Given the description of an element on the screen output the (x, y) to click on. 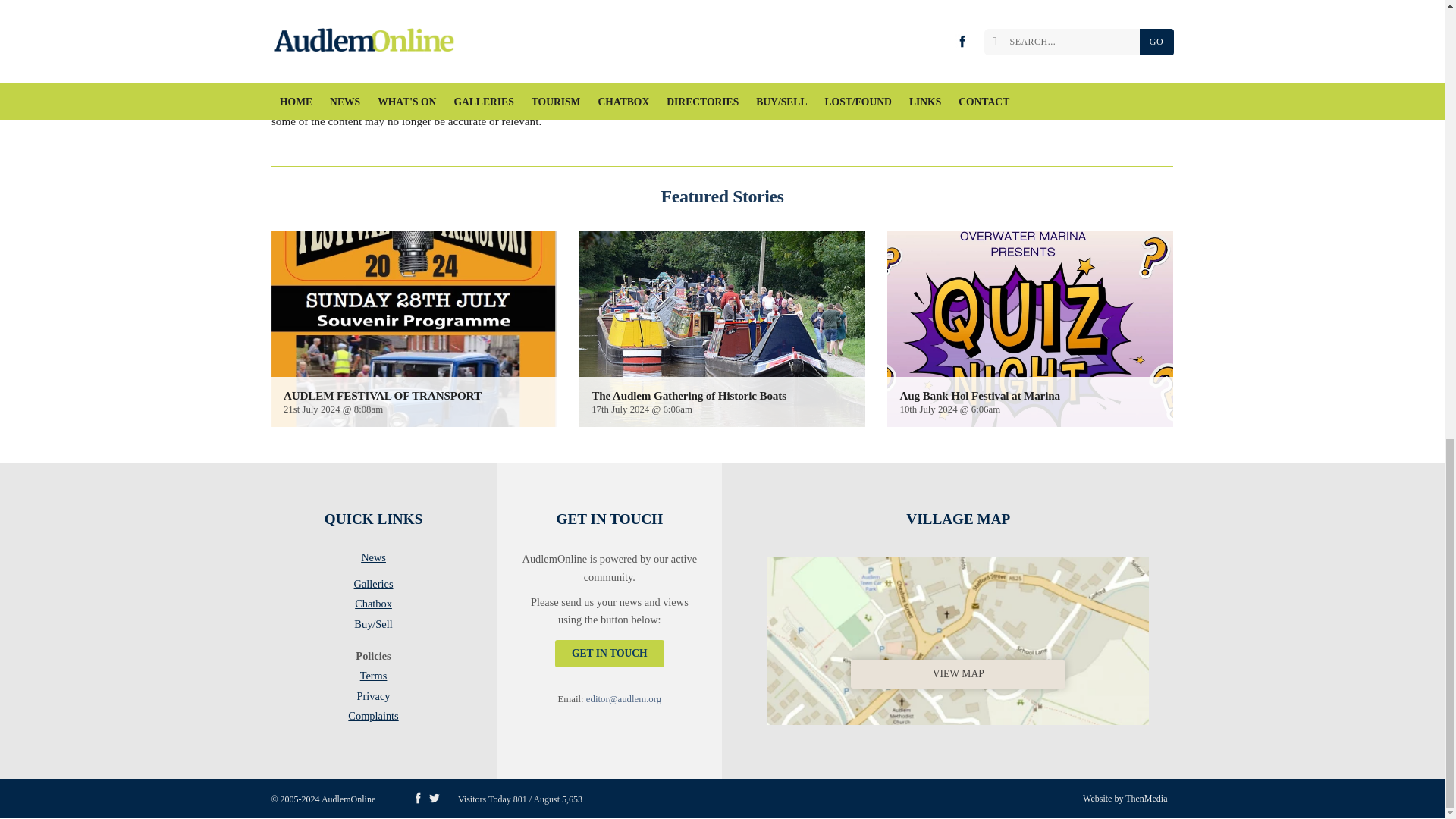
Complaints (373, 715)
Chatbox (373, 606)
Visit our X Feed (434, 797)
Visit our Facebook Page (417, 797)
Featured Stories (722, 196)
Terms (373, 678)
Privacy (373, 699)
GET IN TOUCH (608, 653)
News (373, 560)
VIEW MAP (957, 637)
Galleries (373, 587)
